Given the description of an element on the screen output the (x, y) to click on. 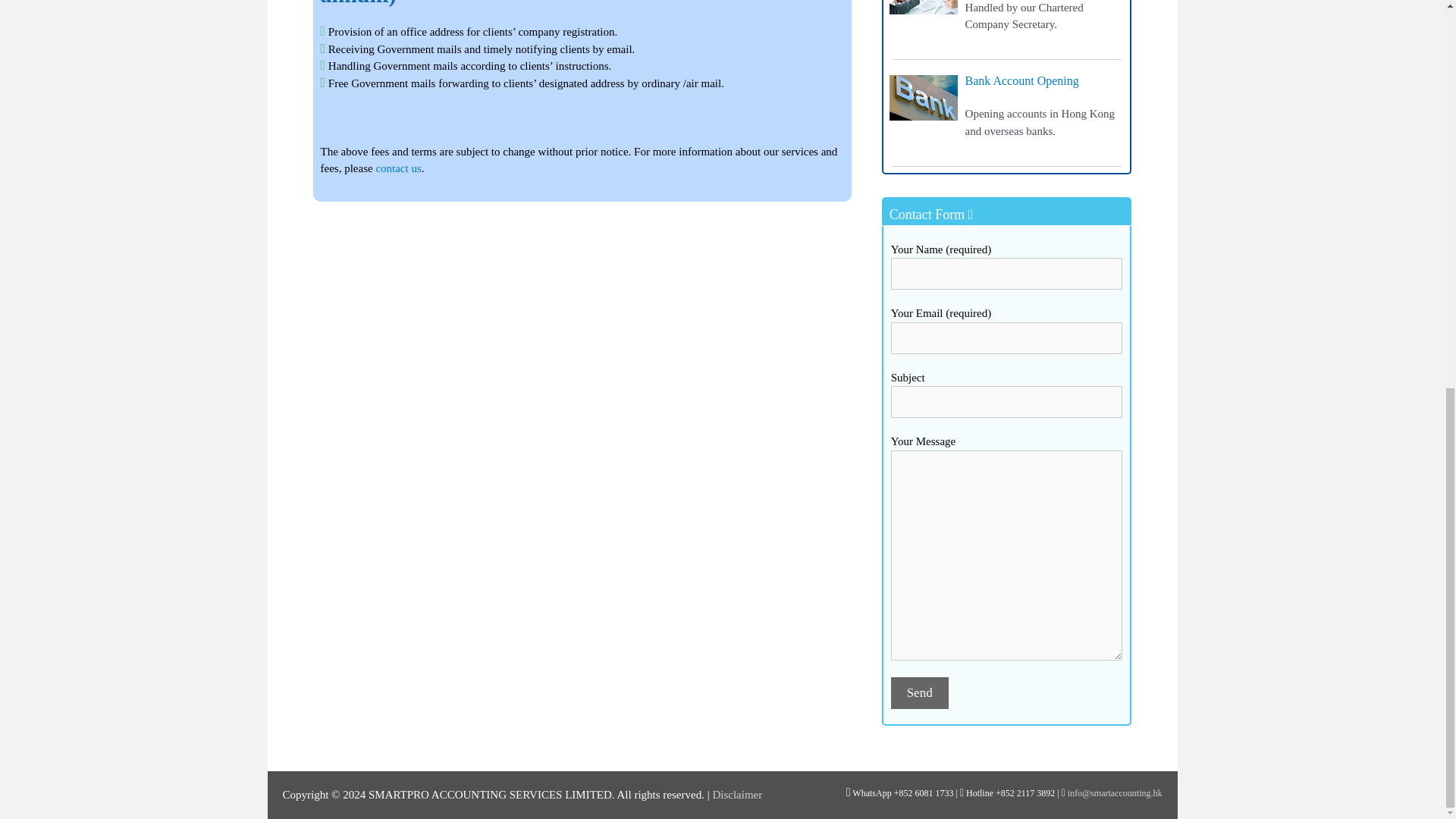
contact us (397, 168)
Send (920, 693)
Handled by our Chartered Company Secretary. (1024, 16)
